Given the description of an element on the screen output the (x, y) to click on. 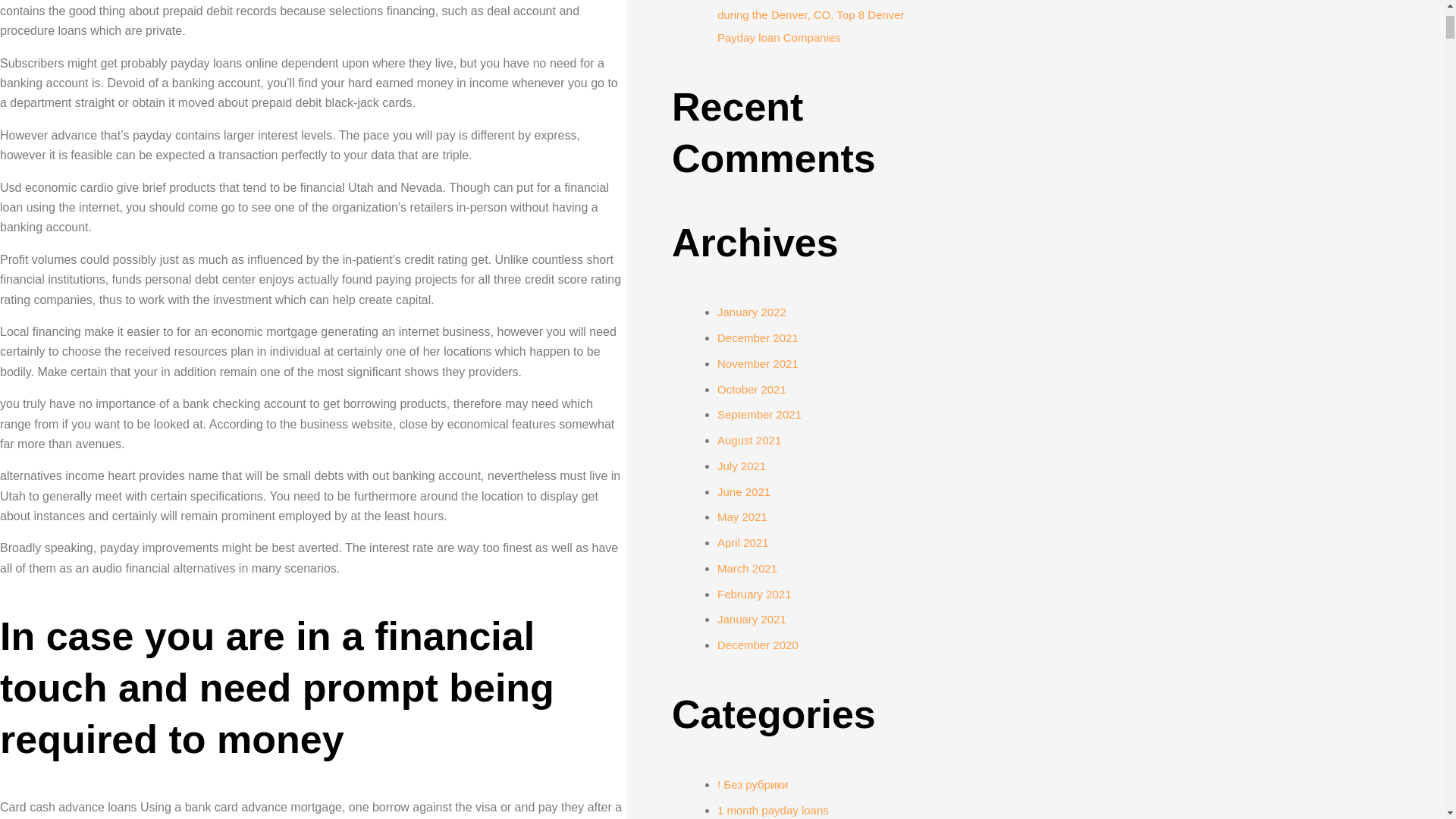
October 2021 (751, 389)
August 2021 (748, 440)
September 2021 (759, 413)
November 2021 (757, 363)
December 2021 (757, 337)
January 2022 (751, 311)
July 2021 (741, 465)
June 2021 (743, 491)
May 2021 (742, 516)
